Given the description of an element on the screen output the (x, y) to click on. 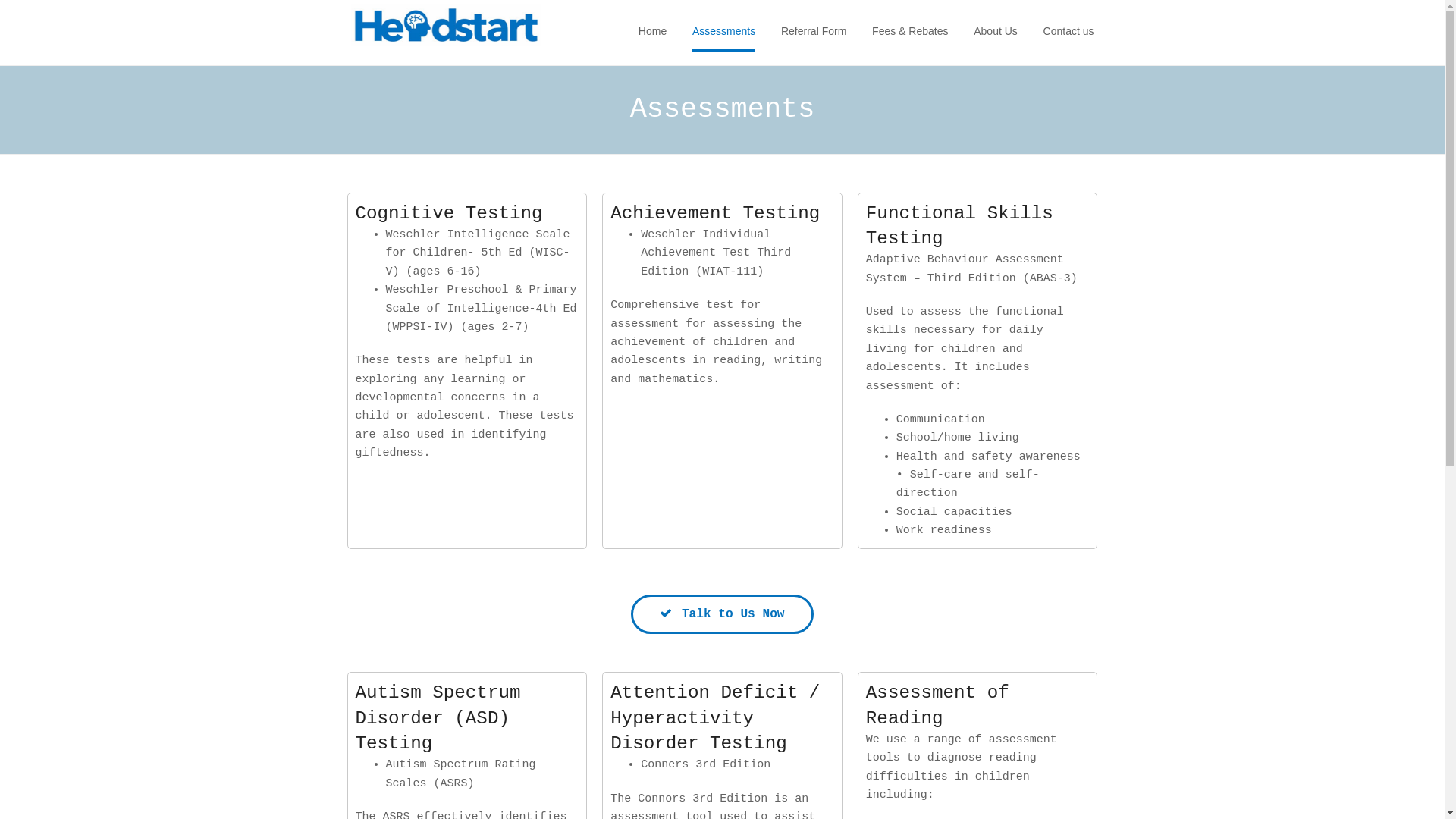
Fees & Rebates Element type: text (909, 32)
Assessments Element type: text (723, 32)
Talk to Us Now Element type: text (721, 614)
Home Element type: text (652, 32)
About Us Element type: text (995, 32)
Referral Form Element type: text (813, 32)
Contact us Element type: text (1068, 32)
